Given the description of an element on the screen output the (x, y) to click on. 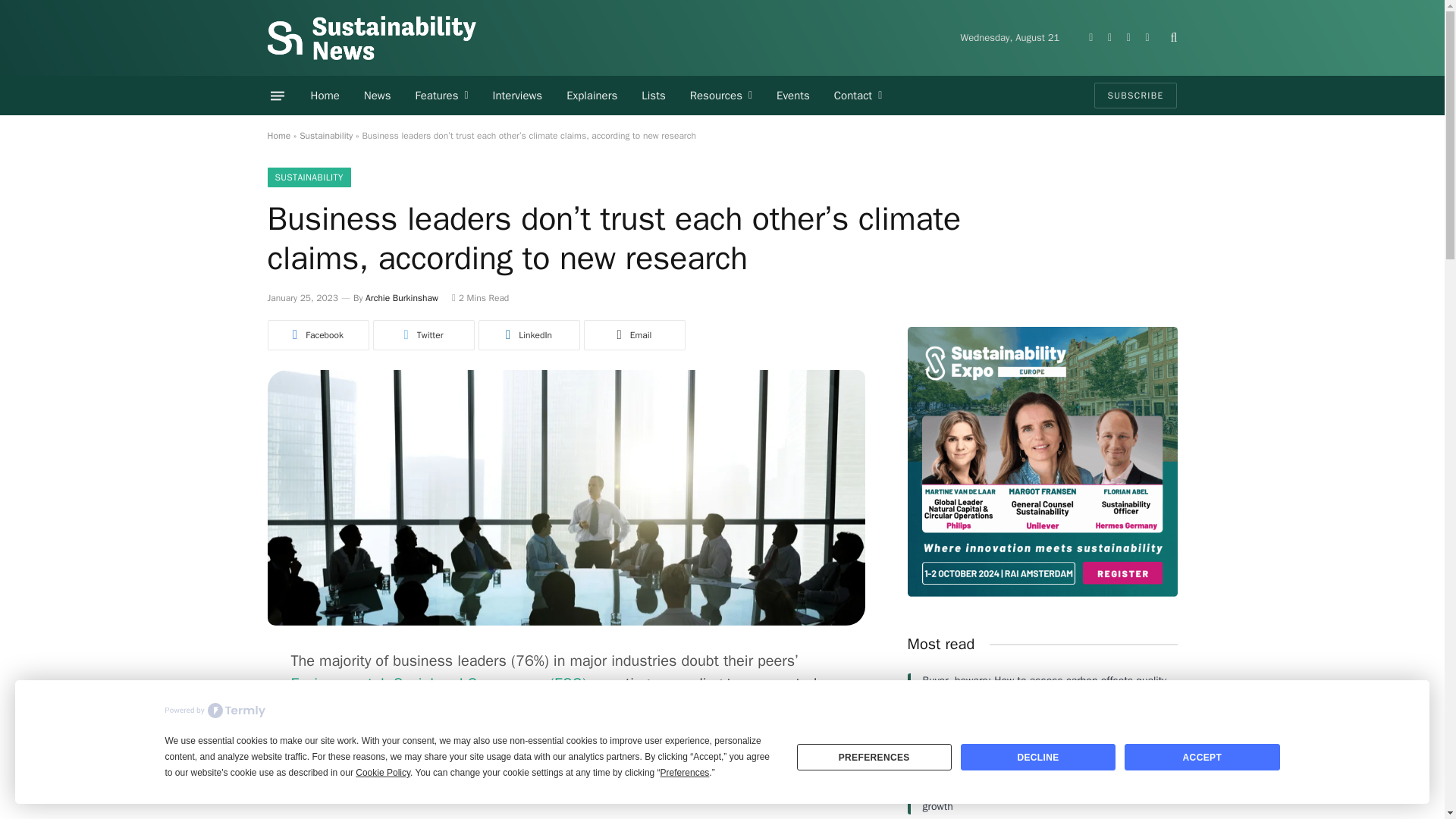
DECLINE (1037, 756)
Home (325, 95)
Share on LinkedIn (528, 335)
ACCEPT (1201, 756)
PREFERENCES (874, 756)
Features (441, 95)
News (377, 95)
Share on Facebook (317, 335)
Posts by Archie Burkinshaw (401, 297)
